Given the description of an element on the screen output the (x, y) to click on. 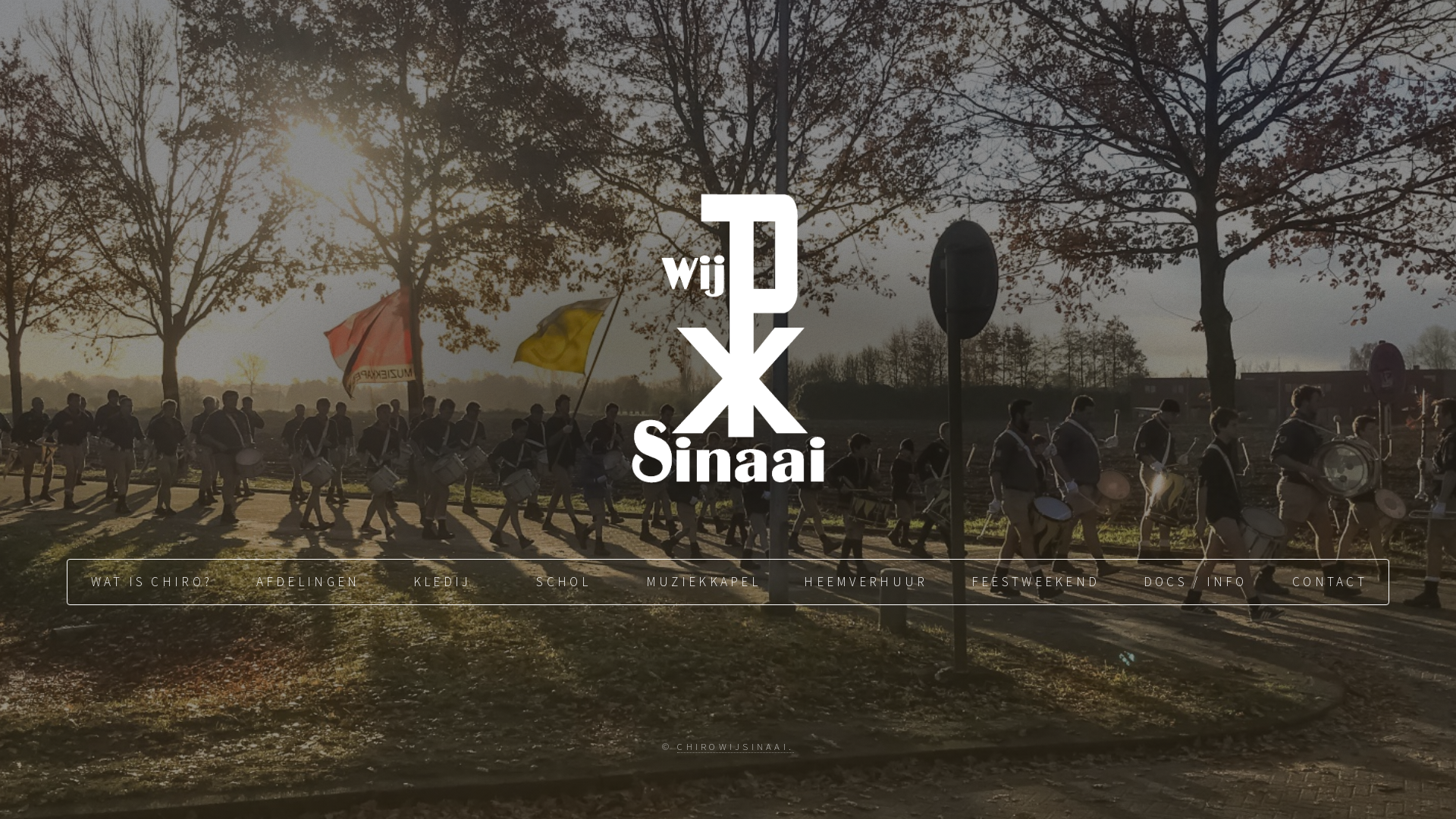
KLEDIJ Element type: text (440, 581)
CHIROWIJSINAAI. Element type: text (735, 746)
DOCS / INFO Element type: text (1193, 581)
MUZIEKKAPEL Element type: text (701, 581)
AFDELINGEN Element type: text (305, 581)
CONTACT Element type: text (1327, 581)
HEEMVERHUUR Element type: text (864, 581)
WAT IS CHIRO? Element type: text (149, 581)
SCHOL Element type: text (561, 581)
FEESTWEEKEND Element type: text (1033, 581)
